Given the description of an element on the screen output the (x, y) to click on. 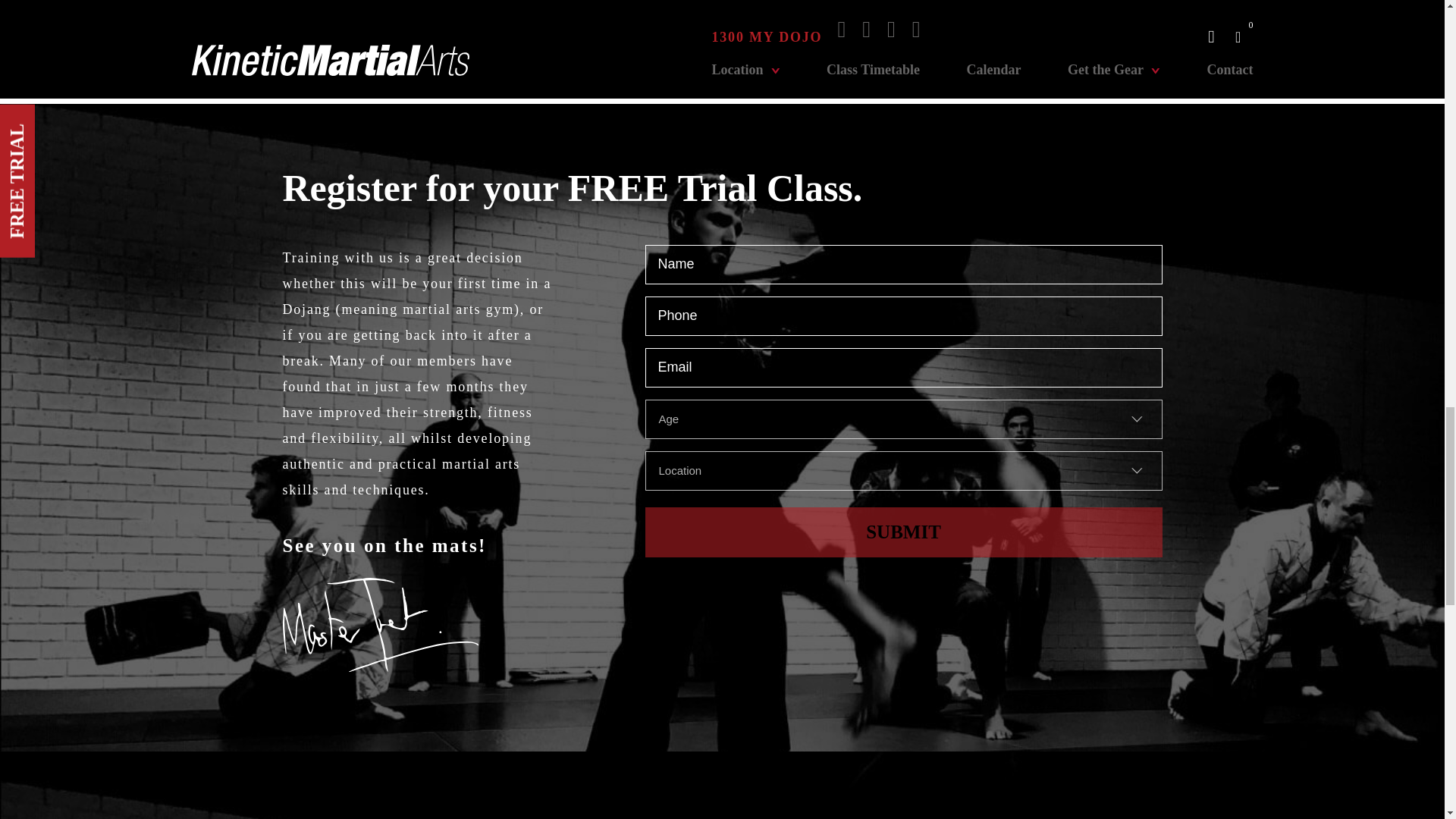
Submit (903, 531)
